Given the description of an element on the screen output the (x, y) to click on. 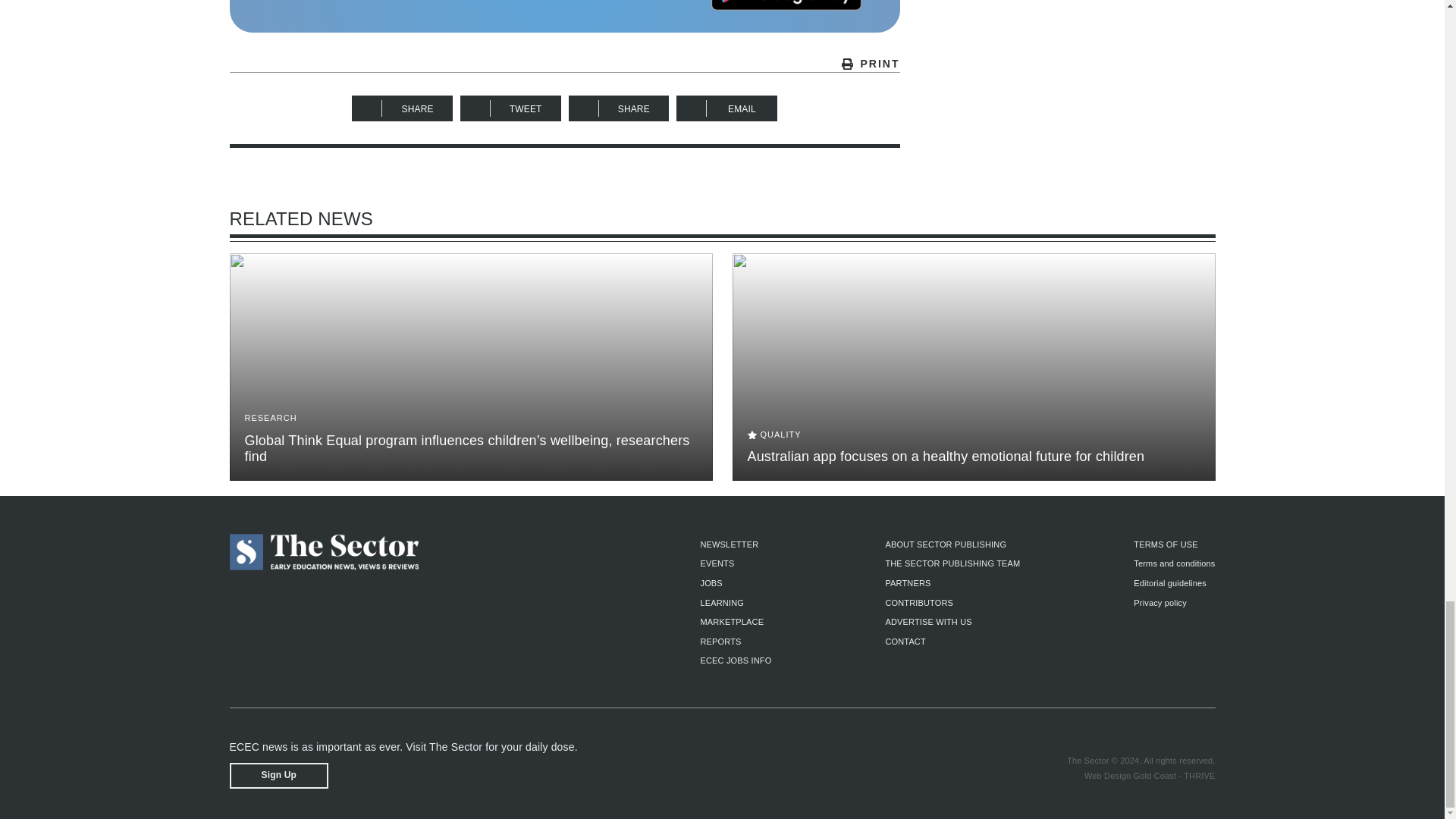
Tweet (510, 108)
Share on Email (727, 108)
Share on Facebook (402, 108)
Web Design Gold Coast (1130, 775)
Share on LinkedIn (619, 108)
